Given the description of an element on the screen output the (x, y) to click on. 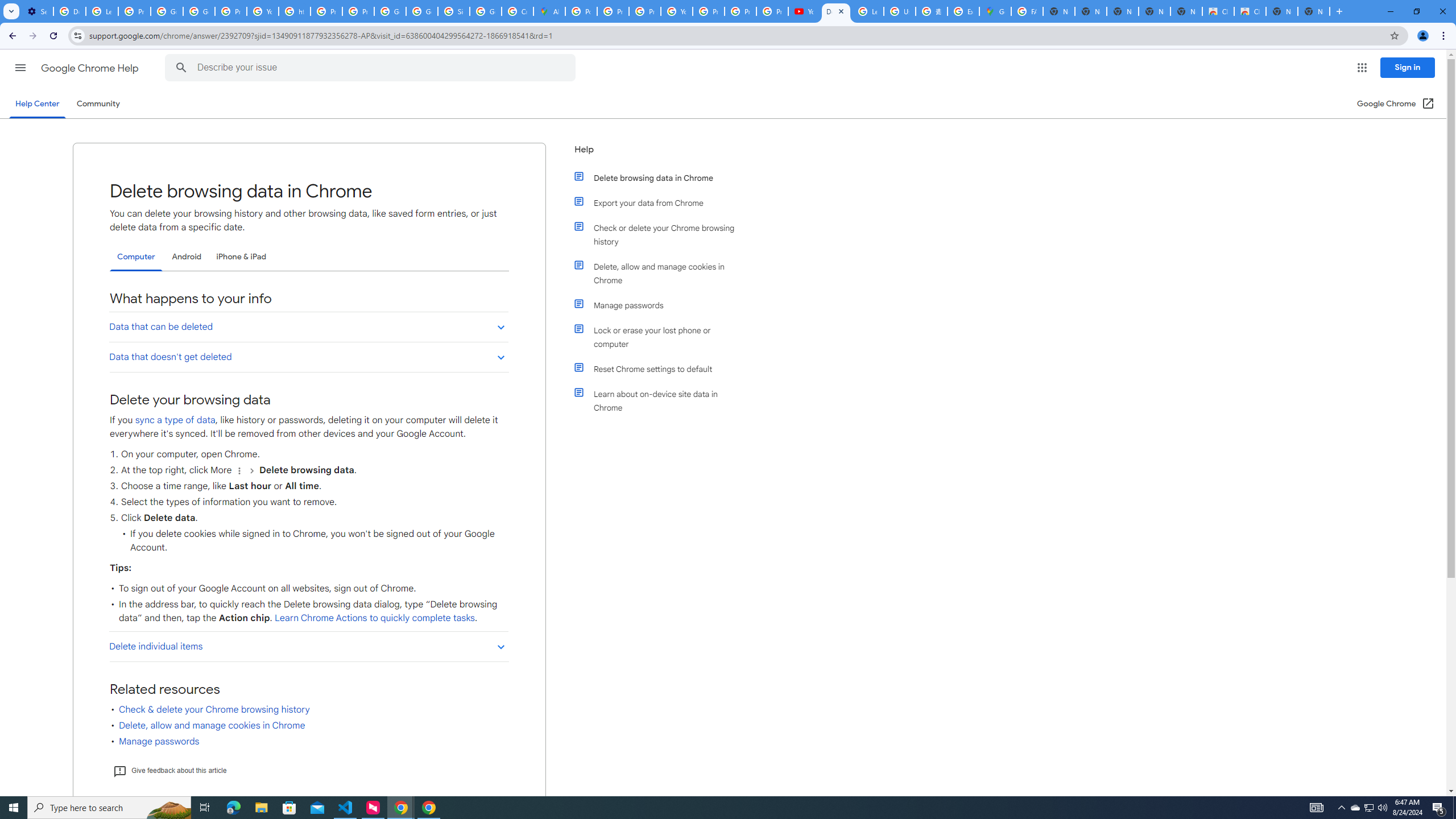
Lock or erase your lost phone or computer (661, 336)
Explore new street-level details - Google Maps Help (963, 11)
Give feedback about this article (169, 770)
Delete, allow and manage cookies in Chrome (661, 273)
Classic Blue - Chrome Web Store (1249, 11)
Learn how to find your photos - Google Photos Help (101, 11)
